Given the description of an element on the screen output the (x, y) to click on. 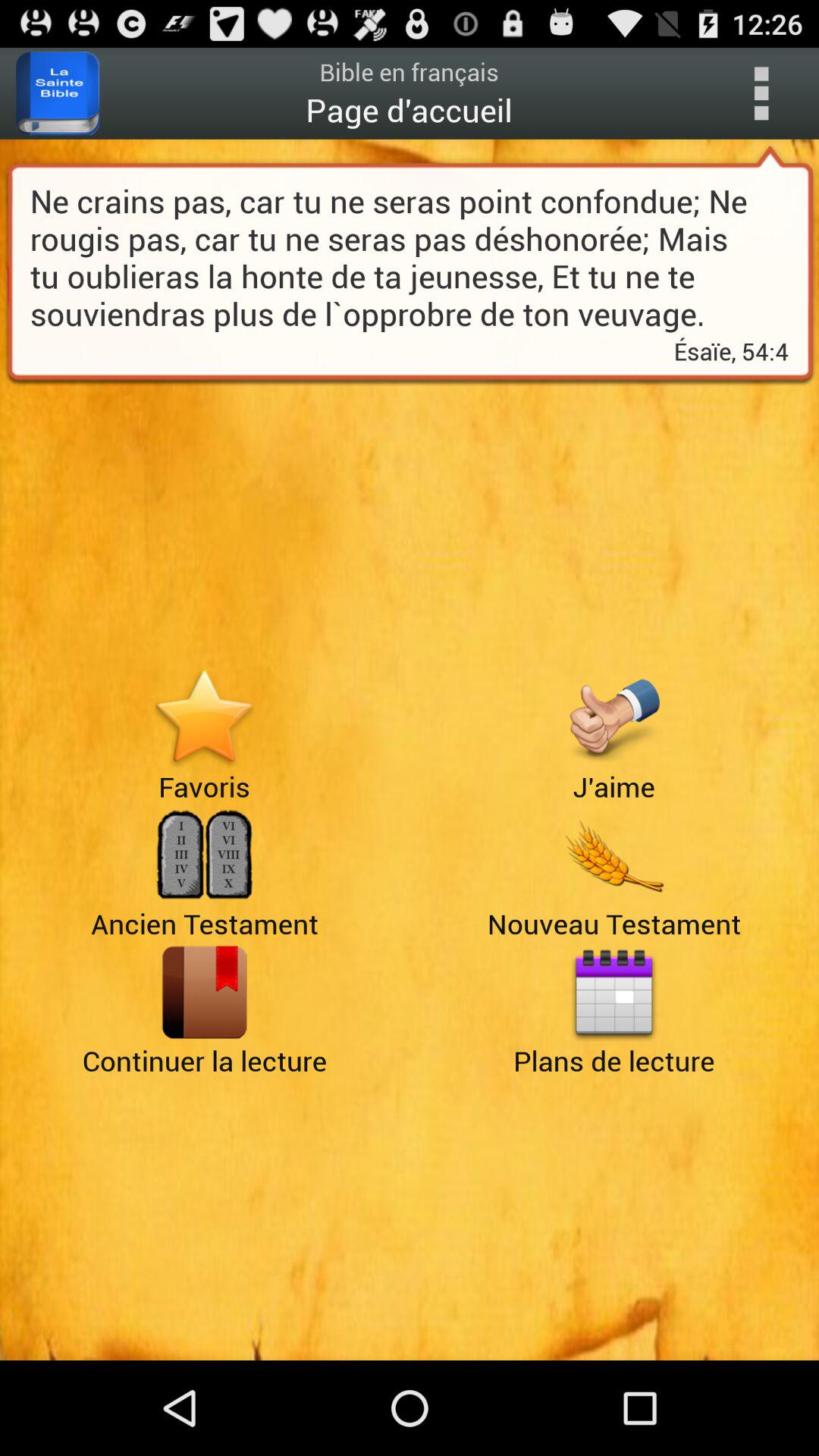
go to new testament (613, 854)
